Given the description of an element on the screen output the (x, y) to click on. 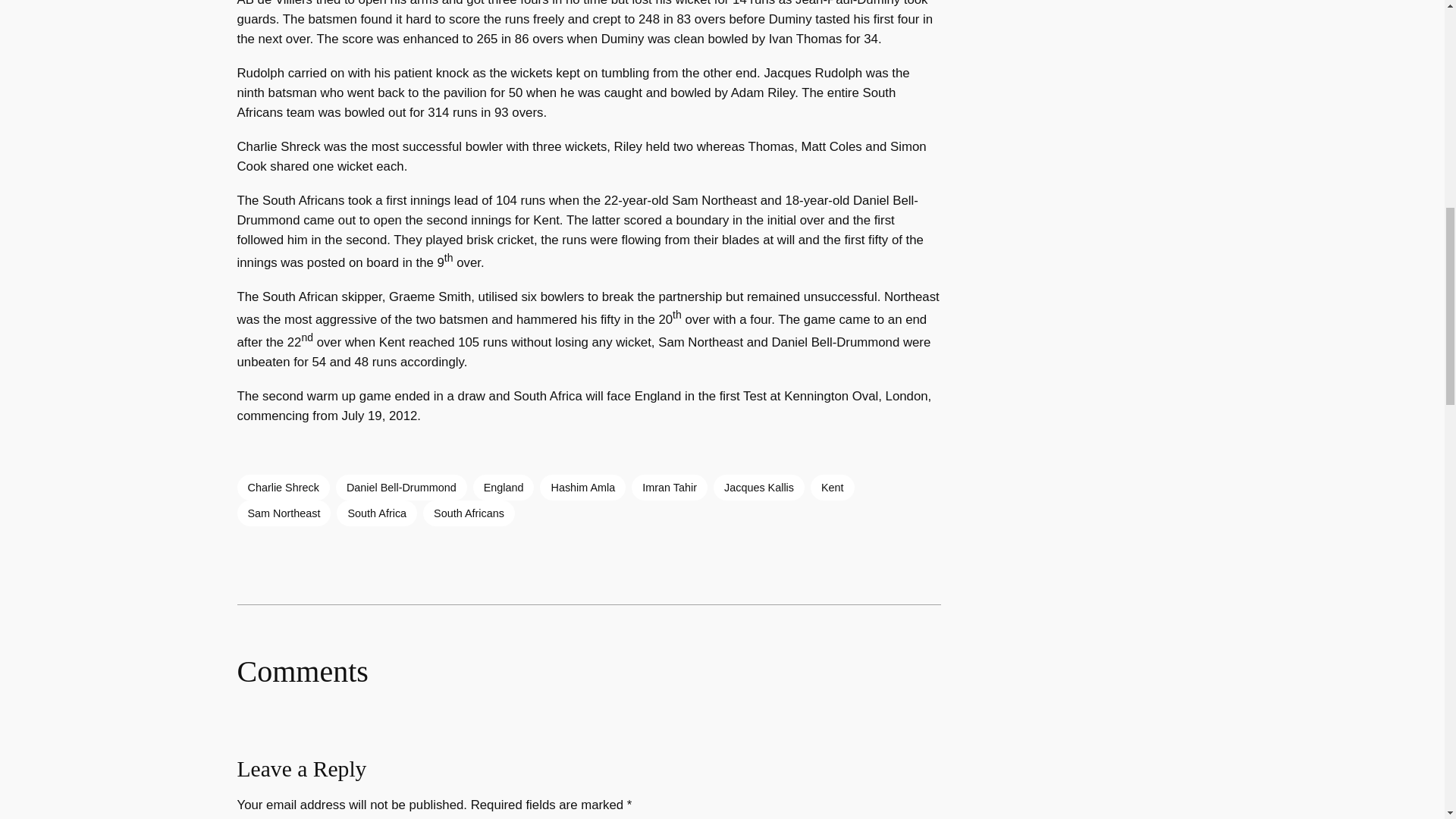
England (503, 487)
South Africans (469, 513)
Imran Tahir (669, 487)
Daniel Bell-Drummond (401, 487)
Sam Northeast (282, 513)
Charlie Shreck (282, 487)
Hashim Amla (583, 487)
South Africa (376, 513)
Kent (832, 487)
Jacques Kallis (759, 487)
